Given the description of an element on the screen output the (x, y) to click on. 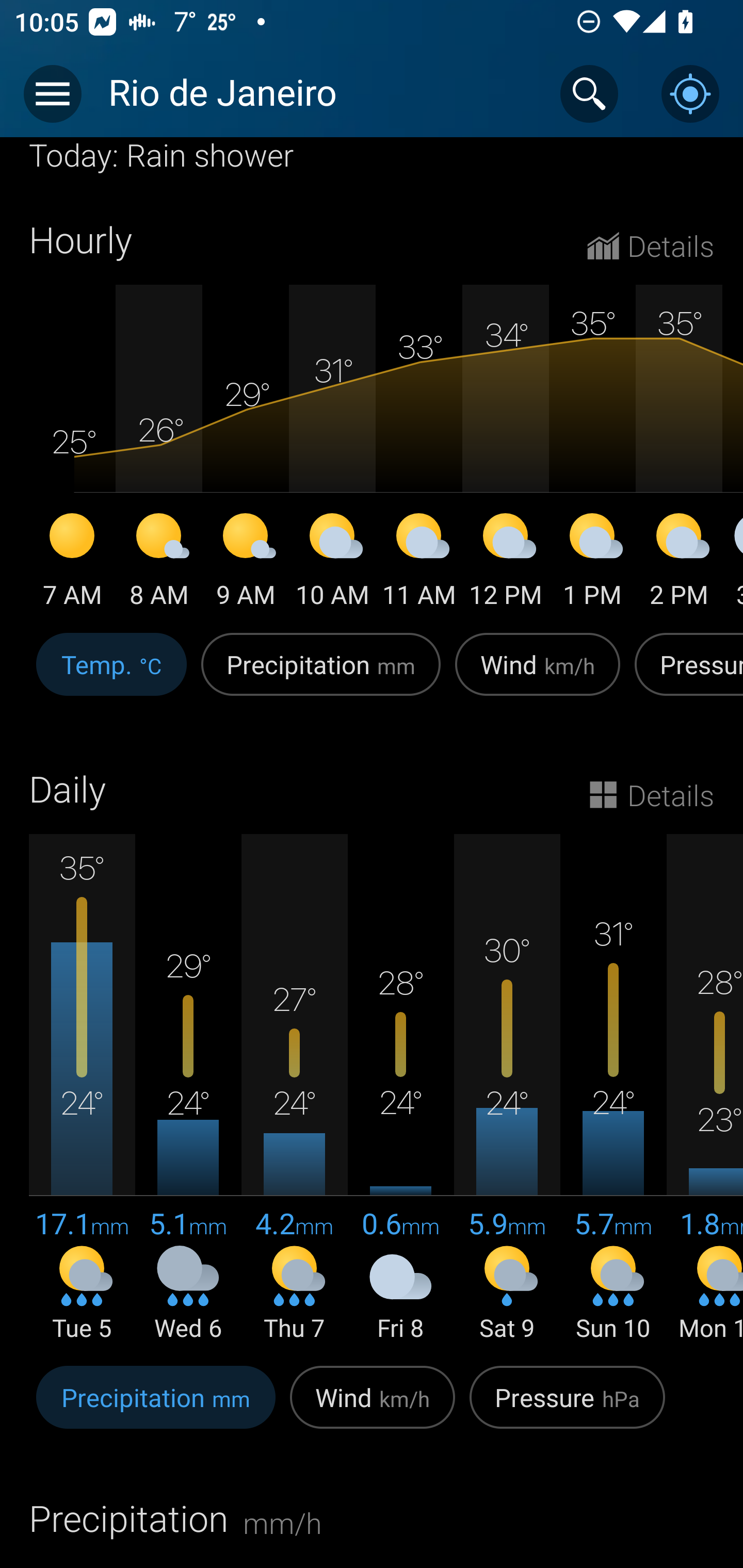
7 AM (71, 563)
8 AM (158, 563)
9 AM (245, 563)
10 AM (332, 563)
11 AM (418, 563)
12 PM (505, 563)
1 PM (592, 563)
2 PM (679, 563)
Temp. °C (110, 674)
Precipitation mm (320, 674)
Wind km/h (537, 674)
Pressure (685, 674)
35° 24° 17.1 mm Tue 5 (81, 1088)
29° 24° 5.1 mm Wed 6 (188, 1088)
27° 24° 4.2 mm Thu 7 (294, 1088)
28° 24° 0.6 mm Fri 8 (400, 1088)
30° 24° 5.9 mm Sat 9 (506, 1088)
31° 24° 5.7 mm Sun 10 (613, 1088)
28° 23° 1.8 mm Mon 11 (704, 1088)
Precipitation mm (155, 1407)
Wind km/h (372, 1407)
Pressure hPa (567, 1407)
